Given the description of an element on the screen output the (x, y) to click on. 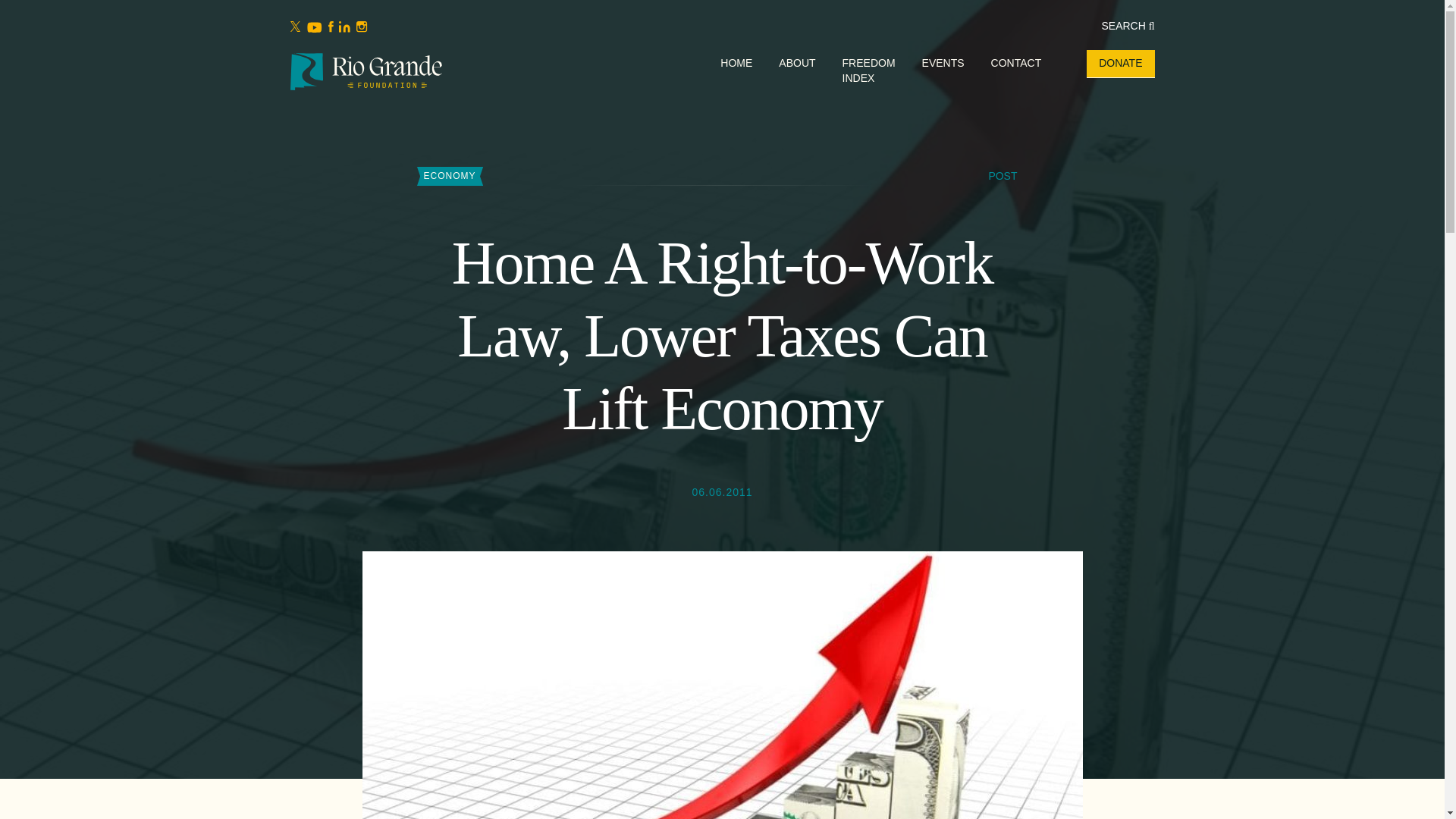
ABOUT (796, 62)
EVENTS (942, 62)
DONATE (1120, 62)
FREEDOM INDEX (869, 70)
SEARCH (1127, 25)
CONTACT (1016, 62)
HOME (736, 62)
